Given the description of an element on the screen output the (x, y) to click on. 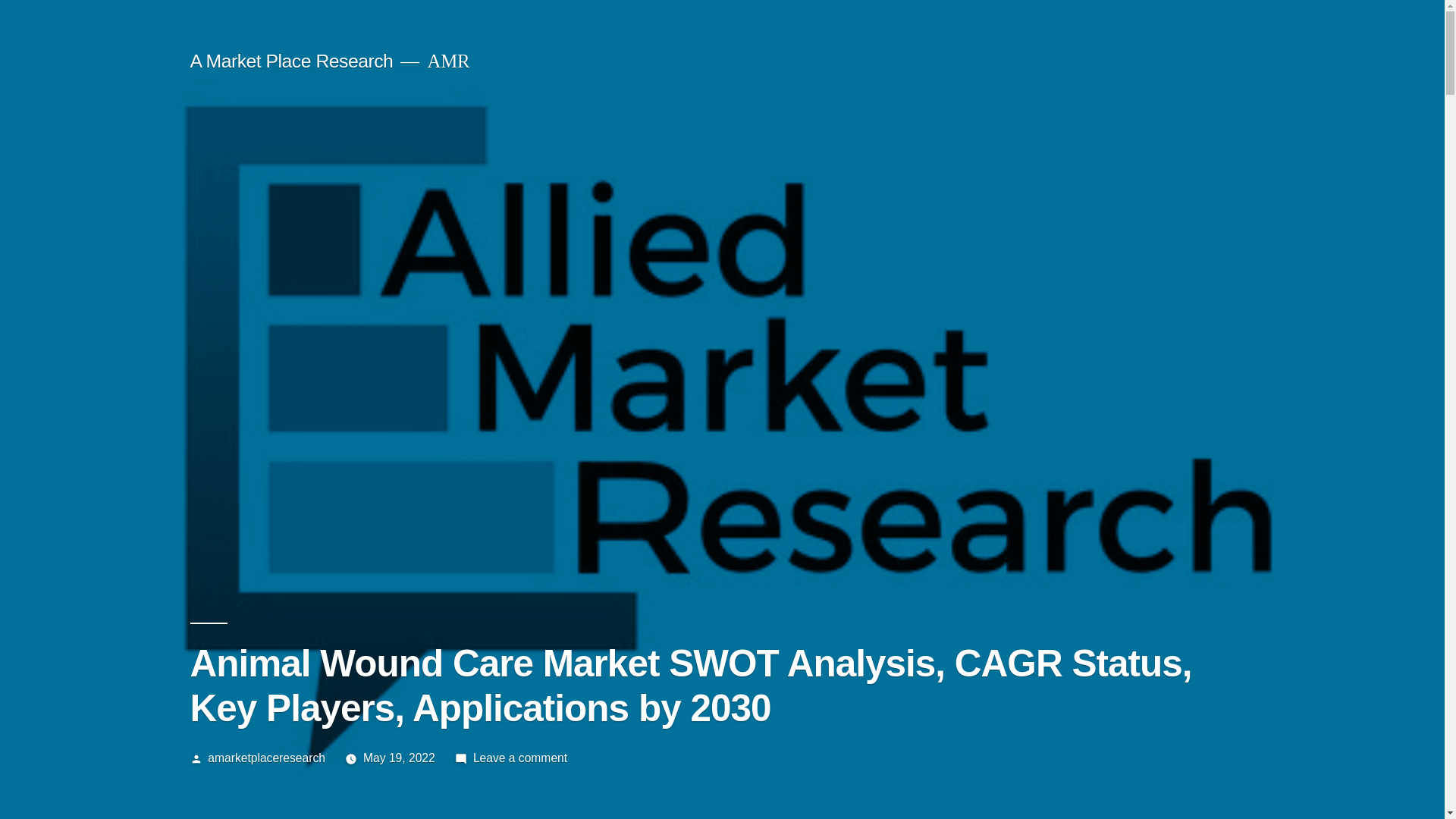
A Market Place Research (291, 60)
May 19, 2022 (398, 757)
amarketplaceresearch (266, 757)
